Given the description of an element on the screen output the (x, y) to click on. 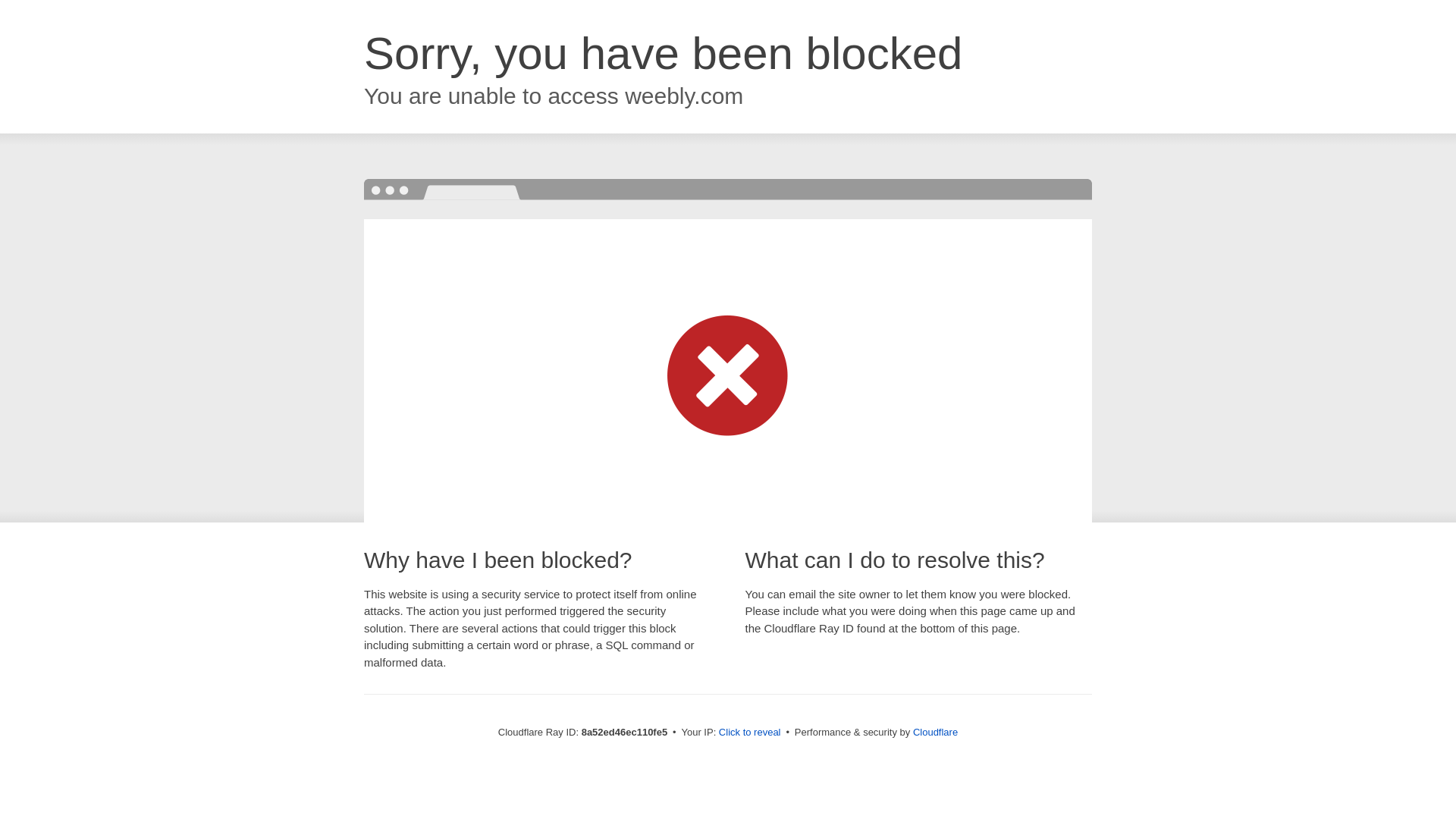
Click to reveal (749, 732)
Cloudflare (935, 731)
